Given the description of an element on the screen output the (x, y) to click on. 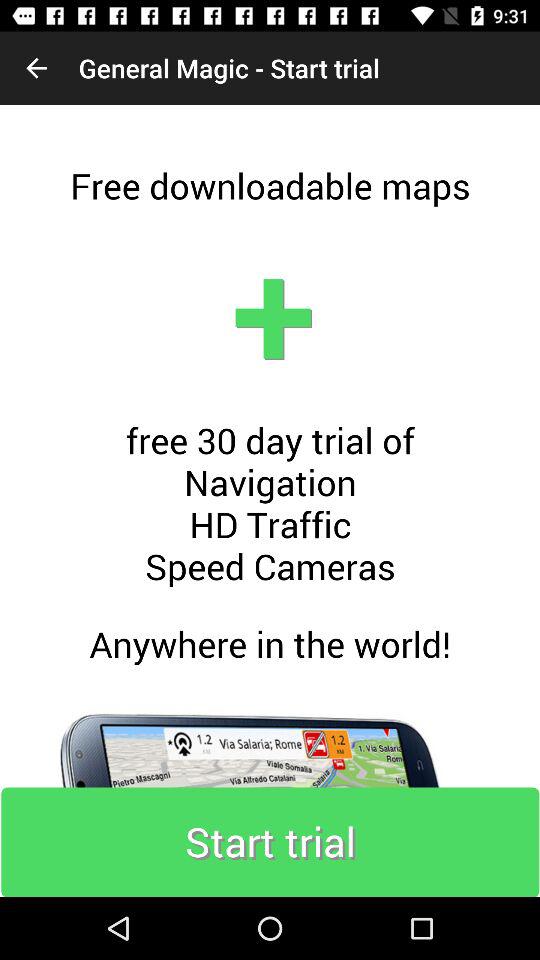
advertisement page (270, 501)
